Given the description of an element on the screen output the (x, y) to click on. 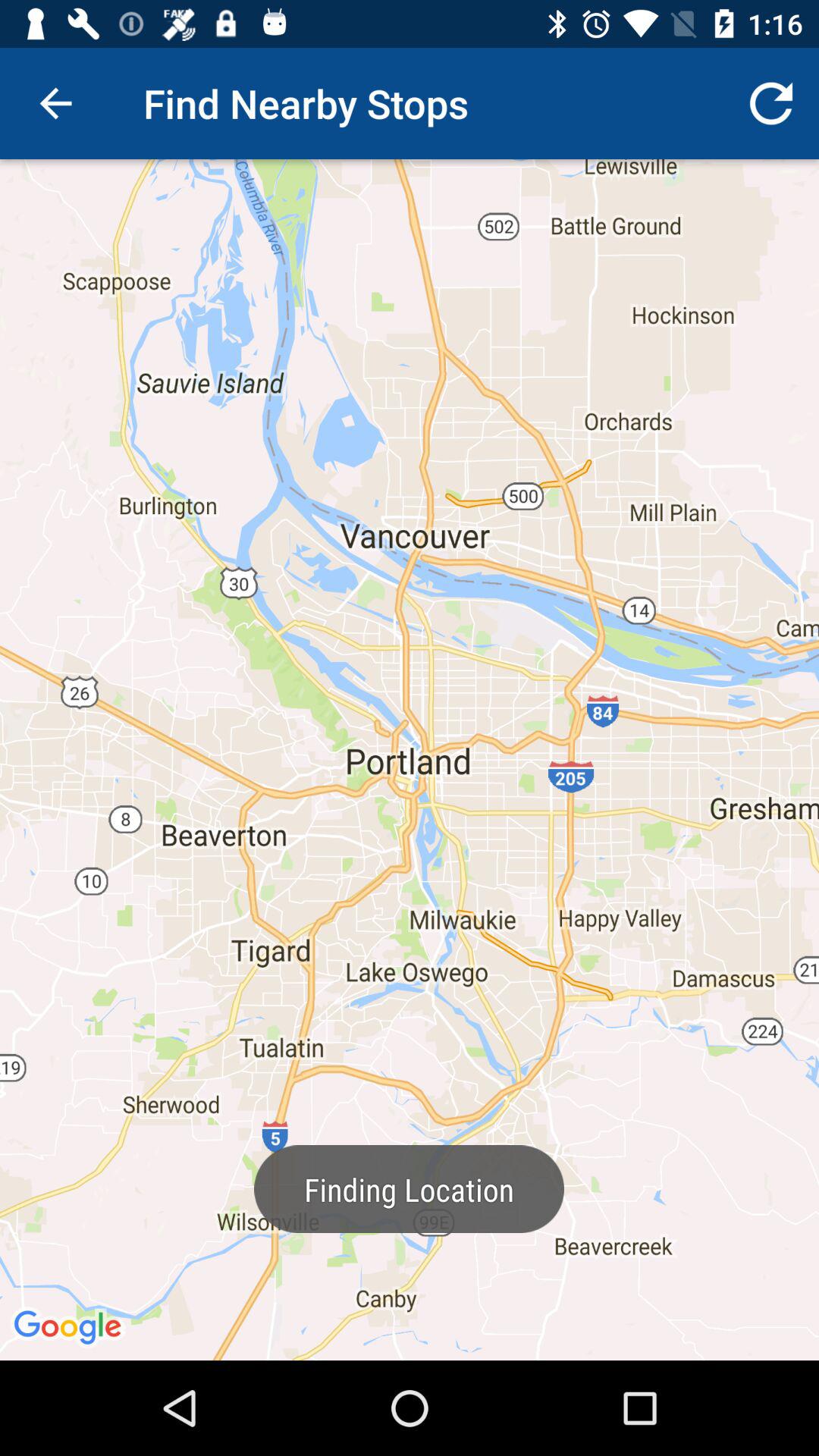
turn off icon next to the find nearby stops (55, 103)
